Given the description of an element on the screen output the (x, y) to click on. 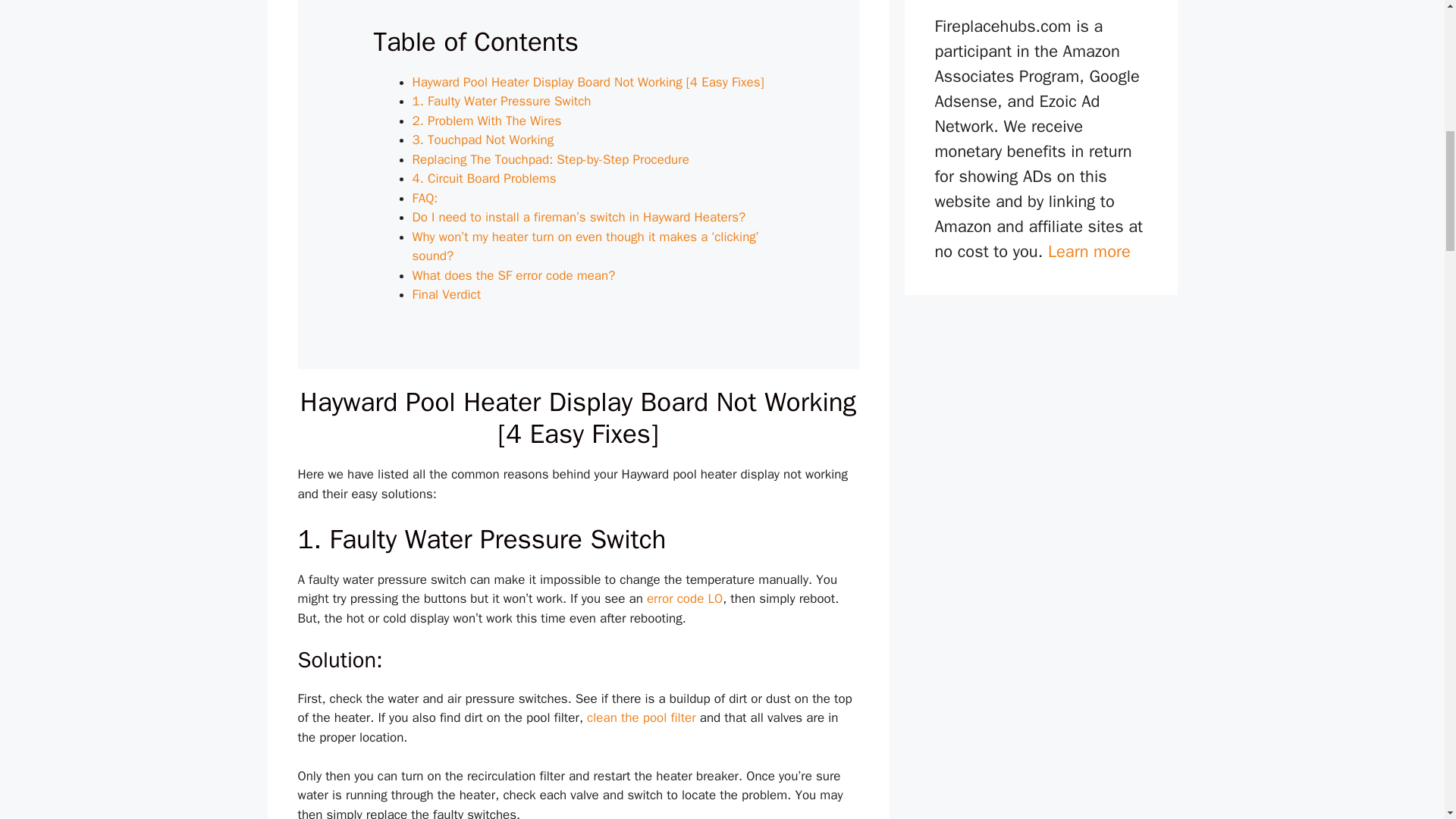
FAQ: (425, 198)
Scroll back to top (1406, 720)
1. Faulty Water Pressure Switch (501, 100)
Final Verdict   (450, 294)
Replacing The Touchpad: Step-by-Step Procedure (550, 159)
2. Problem With The Wires (487, 120)
What does the SF error code mean?  (516, 275)
3. Touchpad Not Working (483, 139)
clean the pool filter (640, 717)
4. Circuit Board Problems (484, 178)
